Given the description of an element on the screen output the (x, y) to click on. 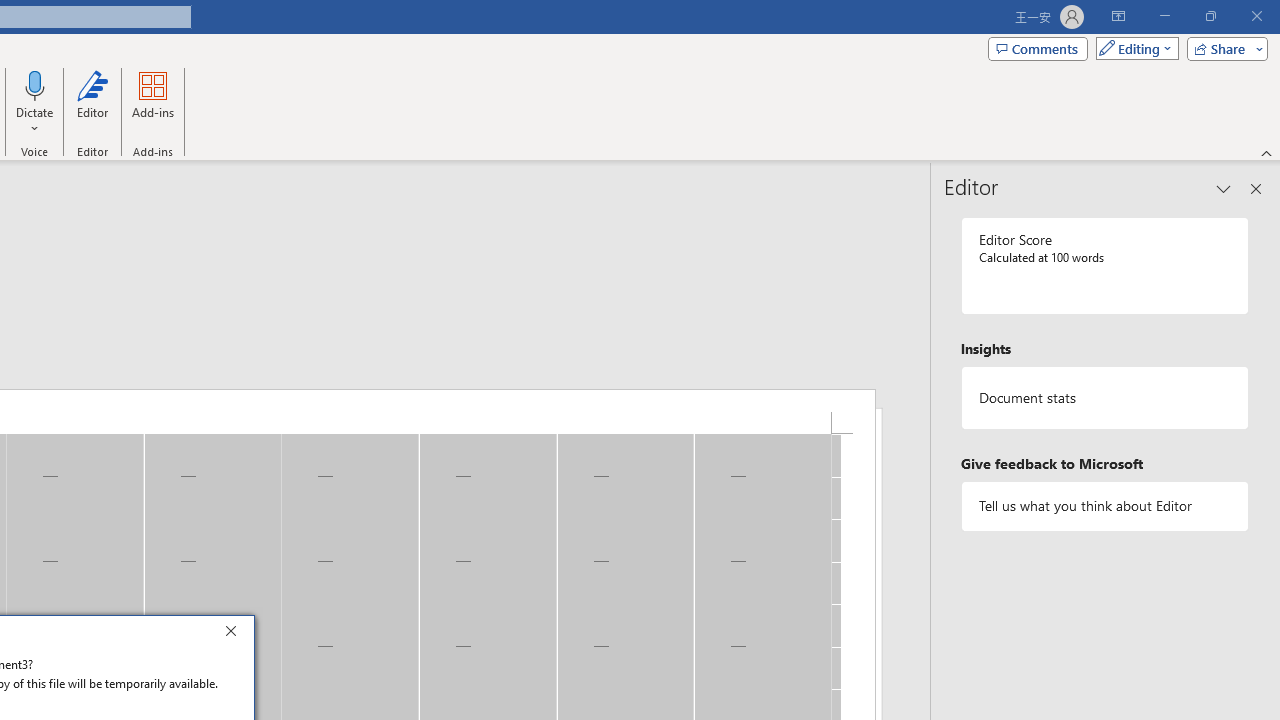
Task Pane Options (1224, 188)
Ribbon Display Options (1118, 16)
Dictate (35, 84)
Tell us what you think about Editor (1105, 506)
Restore Down (1210, 16)
Document statistics (1105, 398)
Close pane (1256, 188)
Dictate (35, 102)
Comments (1038, 48)
More Options (35, 121)
Collapse the Ribbon (1267, 152)
Share (1223, 48)
